Given the description of an element on the screen output the (x, y) to click on. 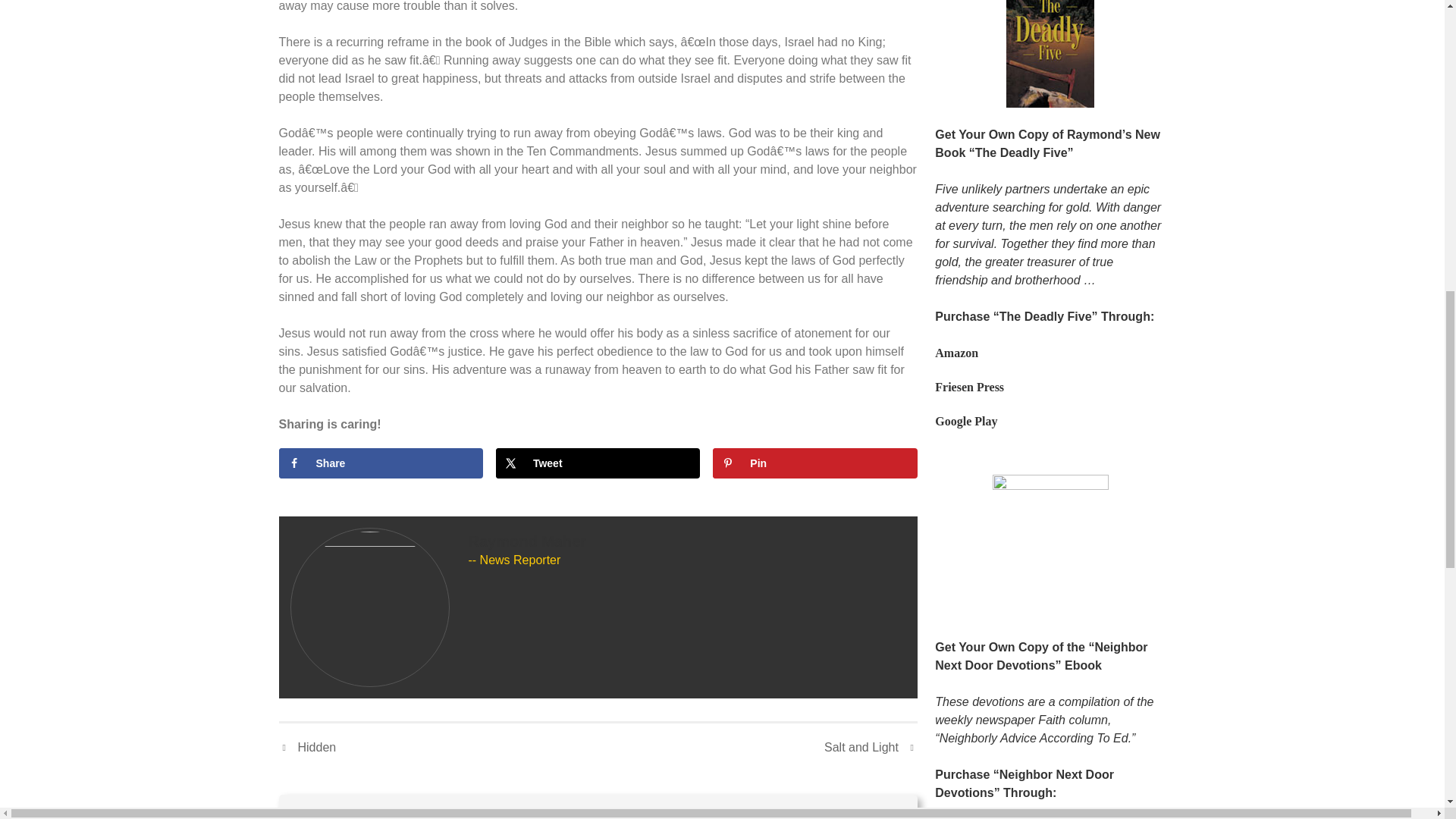
Share on X (598, 462)
Google Play Deadly Five (965, 420)
Save to Pinterest (815, 462)
Posts by Raymond Maher (527, 541)
Amazon Deadly Five (956, 352)
Friesen Press Deadly Five (969, 386)
Share on Facebook (381, 462)
